Given the description of an element on the screen output the (x, y) to click on. 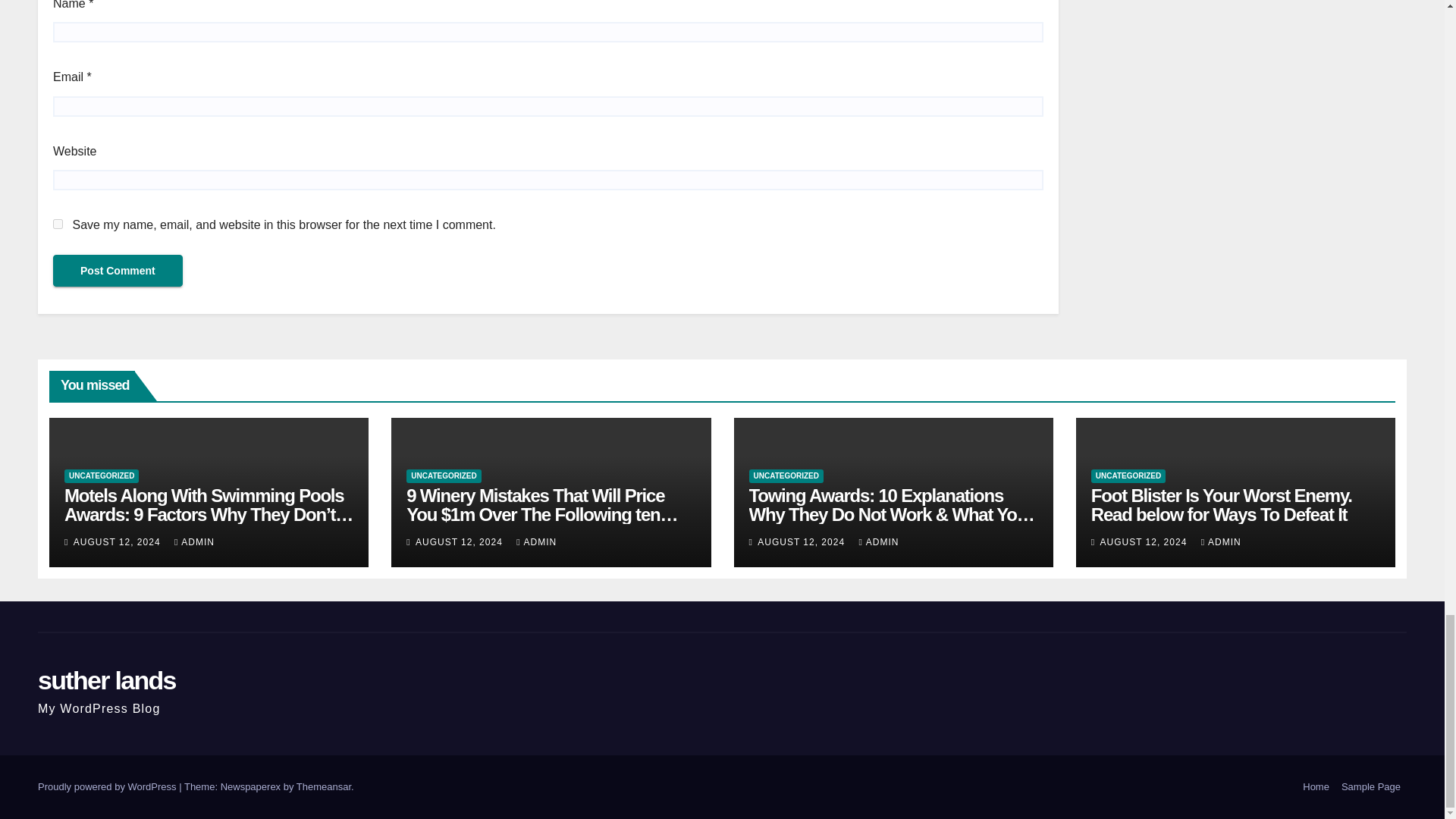
yes (57, 224)
Post Comment (117, 270)
Home (1316, 786)
Post Comment (117, 270)
